Given the description of an element on the screen output the (x, y) to click on. 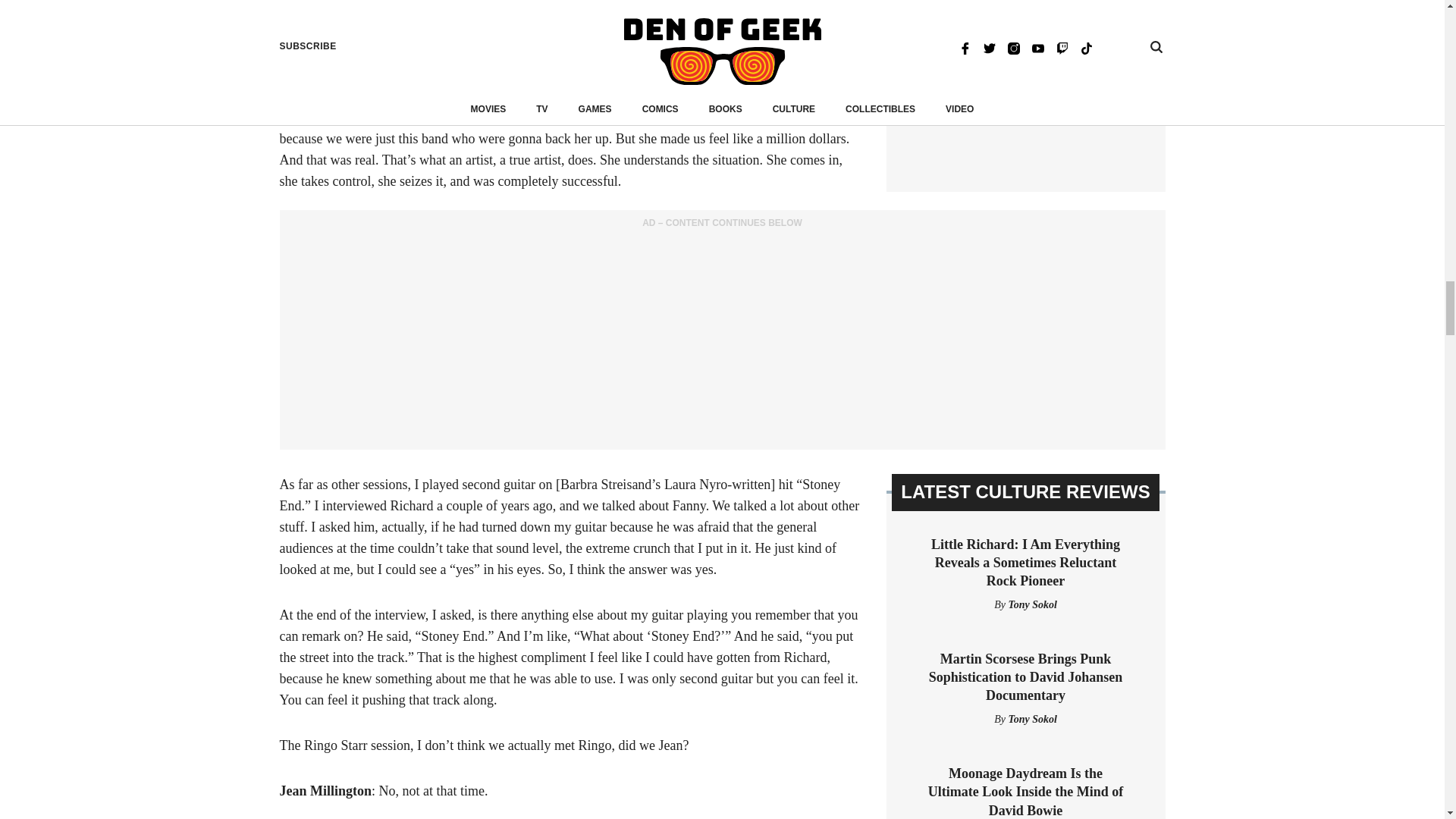
Tony Sokol (1032, 718)
Tony Sokol (1032, 604)
